Given the description of an element on the screen output the (x, y) to click on. 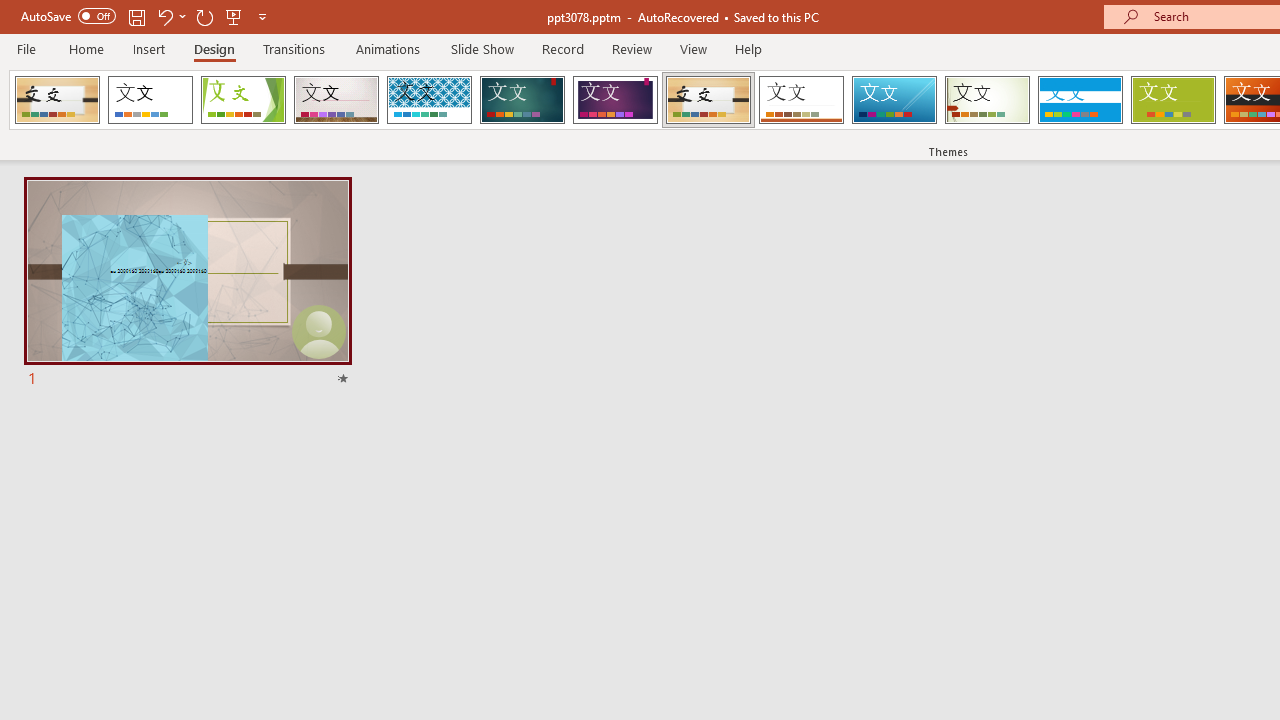
Ion (522, 100)
Slice (893, 100)
Retrospect (801, 100)
Organic (708, 100)
